Given the description of an element on the screen output the (x, y) to click on. 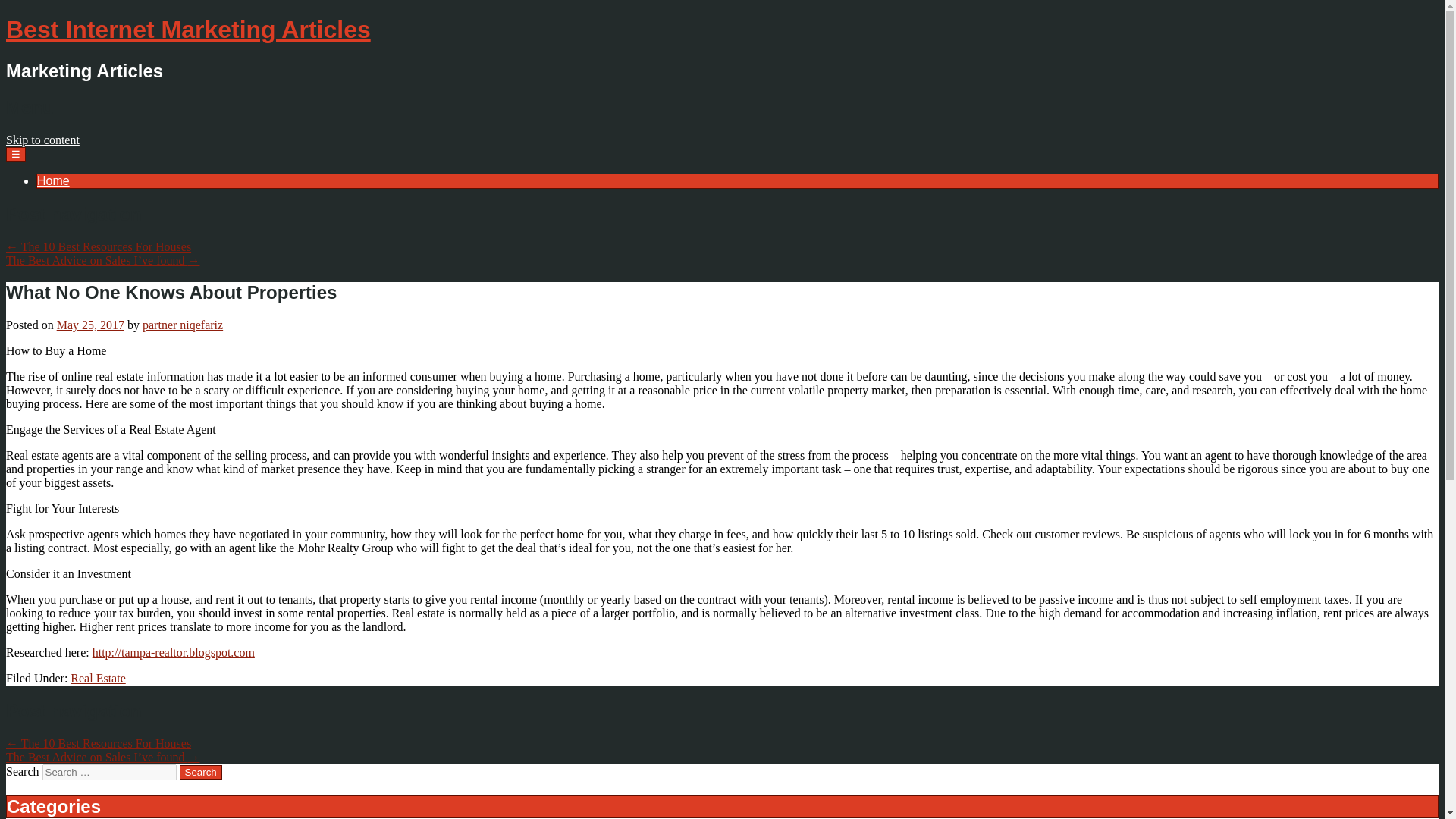
Best Internet Marketing Articles (188, 29)
Search (200, 771)
Real Estate (97, 677)
partner niqefariz (182, 324)
May 25, 2017 (89, 324)
Skip to content (42, 139)
6:16 am (89, 324)
View all posts by partner niqefariz (182, 324)
Skip to content (42, 139)
Best Internet Marketing Articles (188, 29)
Search (200, 771)
Home (53, 180)
